Given the description of an element on the screen output the (x, y) to click on. 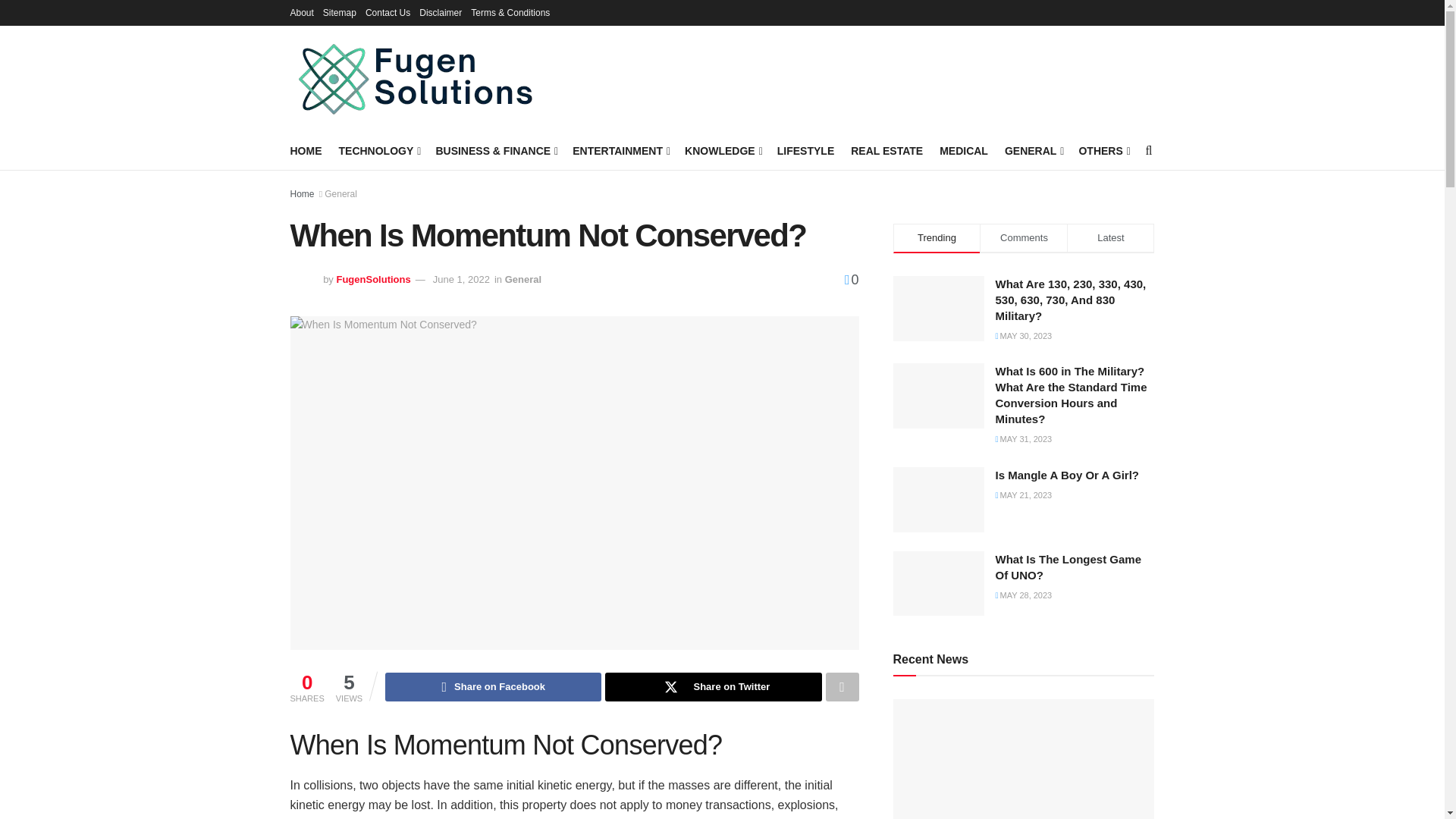
ENTERTAINMENT (620, 150)
LIFESTYLE (805, 150)
GENERAL (1033, 150)
HOME (305, 150)
MEDICAL (963, 150)
Disclaimer (440, 12)
About (301, 12)
KNOWLEDGE (722, 150)
TECHNOLOGY (378, 150)
Sitemap (339, 12)
OTHERS (1102, 150)
Contact Us (387, 12)
REAL ESTATE (886, 150)
